Given the description of an element on the screen output the (x, y) to click on. 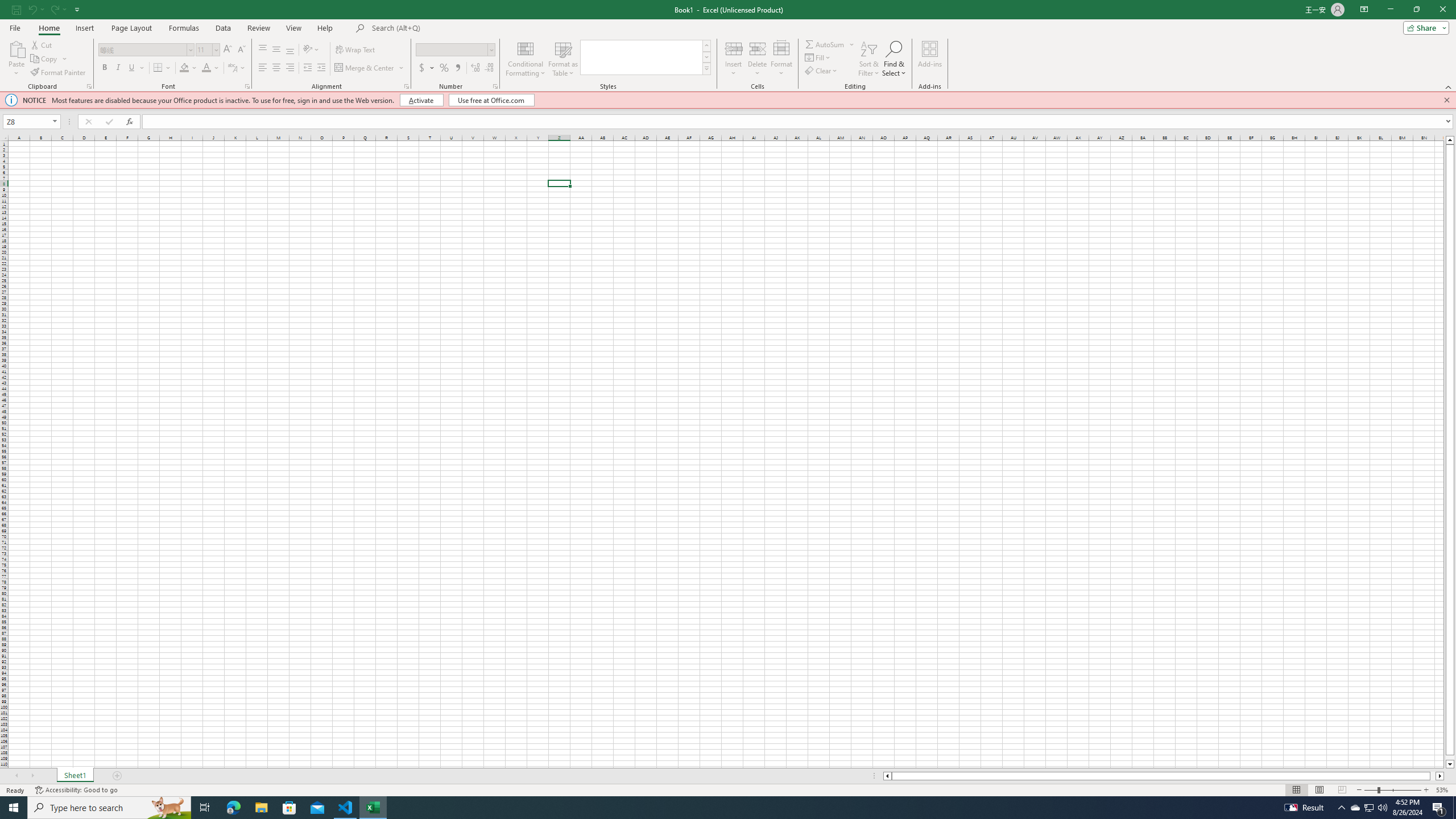
Fill (818, 56)
Font Color (210, 67)
Center (276, 67)
Accounting Number Format (426, 67)
Paste (16, 48)
Merge & Center (365, 67)
Activate (422, 100)
Merge & Center (369, 67)
